Given the description of an element on the screen output the (x, y) to click on. 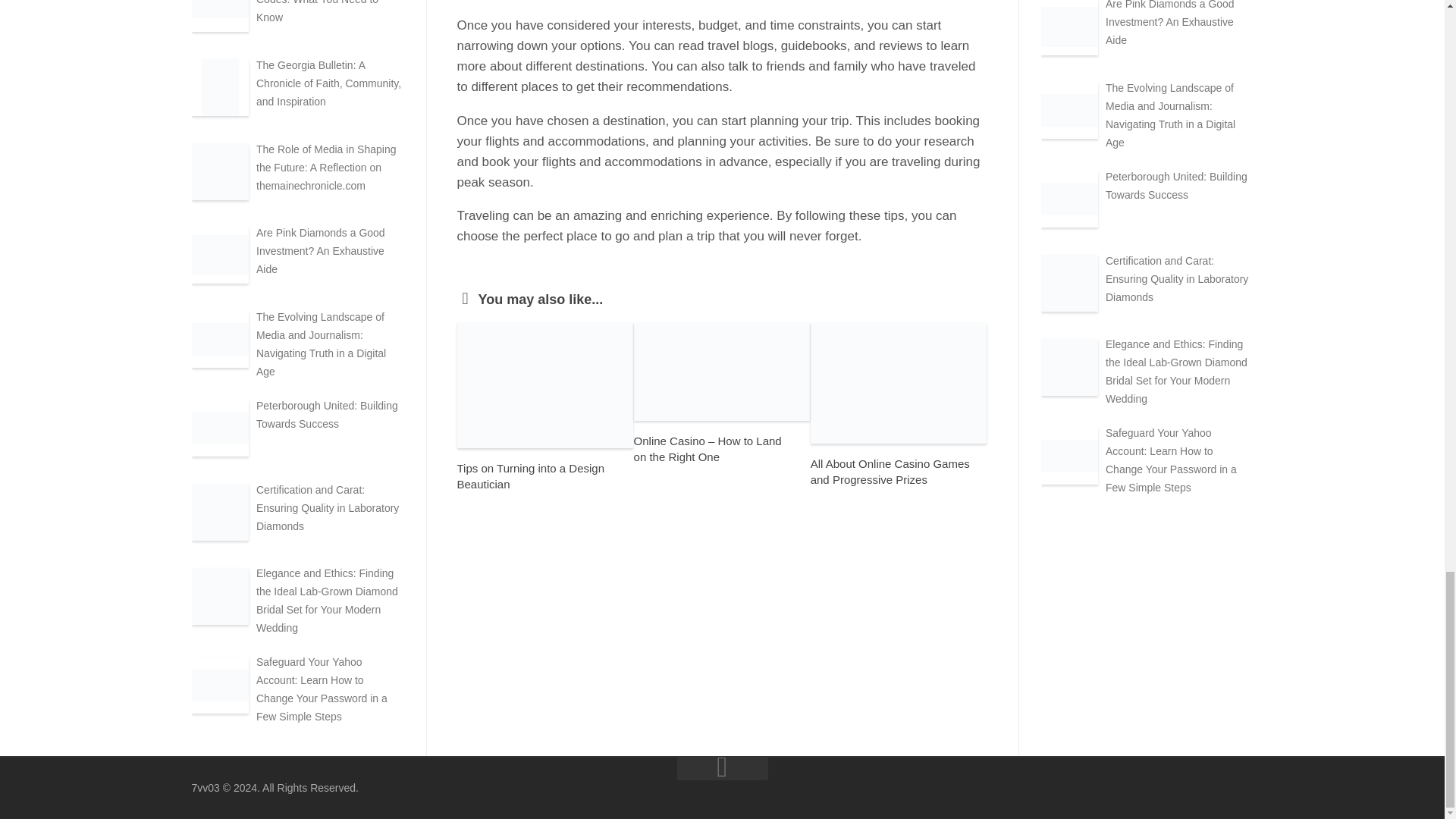
Latest Updates on HMRC Tax Codes: What You Need to Know (326, 11)
Tips on Turning into a Design Beautician (530, 475)
Are Pink Diamonds a Good Investment? An Exhaustive Aide (320, 250)
are pink diamonds a good investment (218, 254)
are pink diamonds a good investment (1069, 27)
All About Online Casino Games and Progressive Prizes (889, 471)
